Given the description of an element on the screen output the (x, y) to click on. 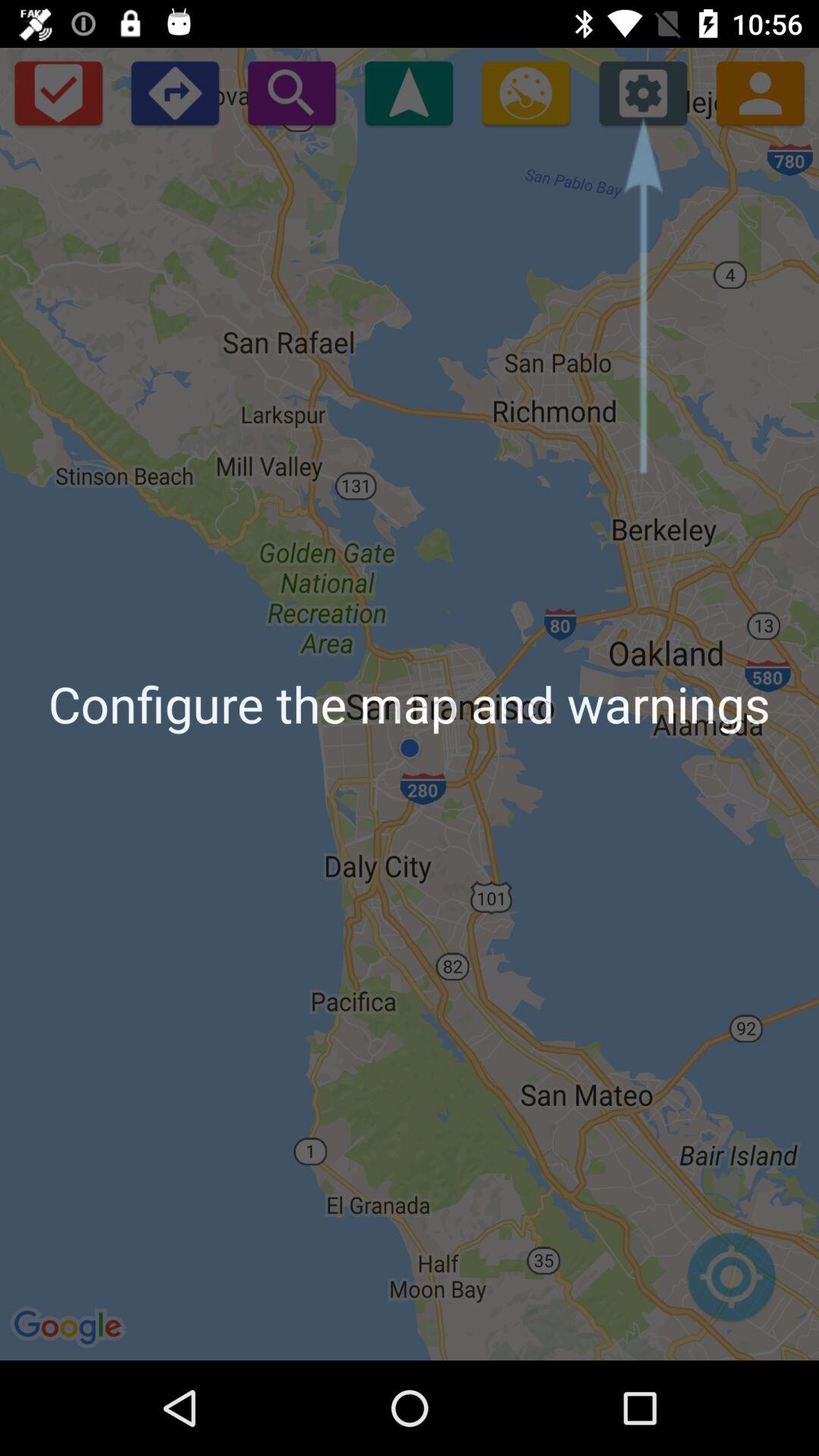
search (291, 92)
